Given the description of an element on the screen output the (x, y) to click on. 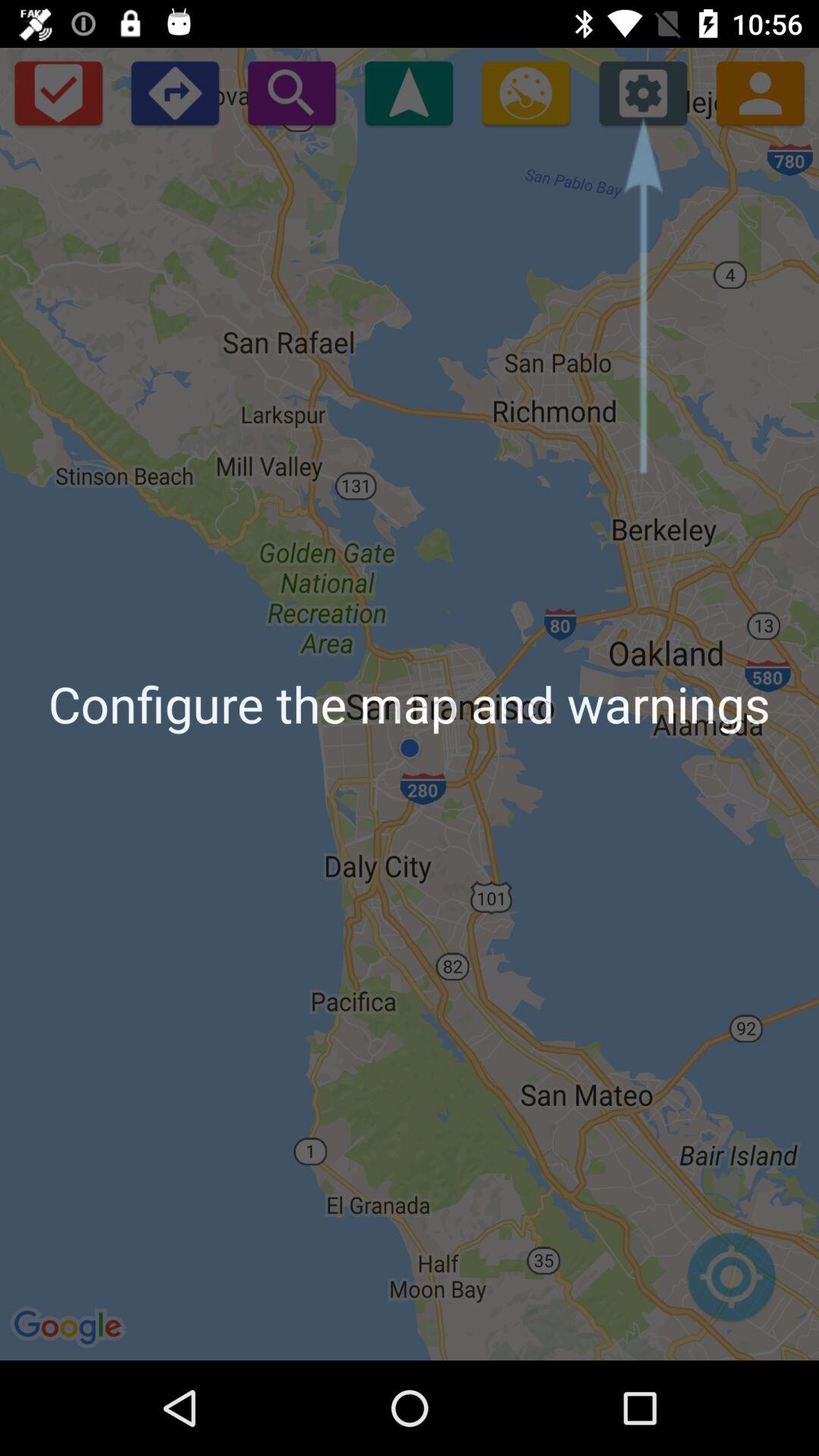
search (291, 92)
